Given the description of an element on the screen output the (x, y) to click on. 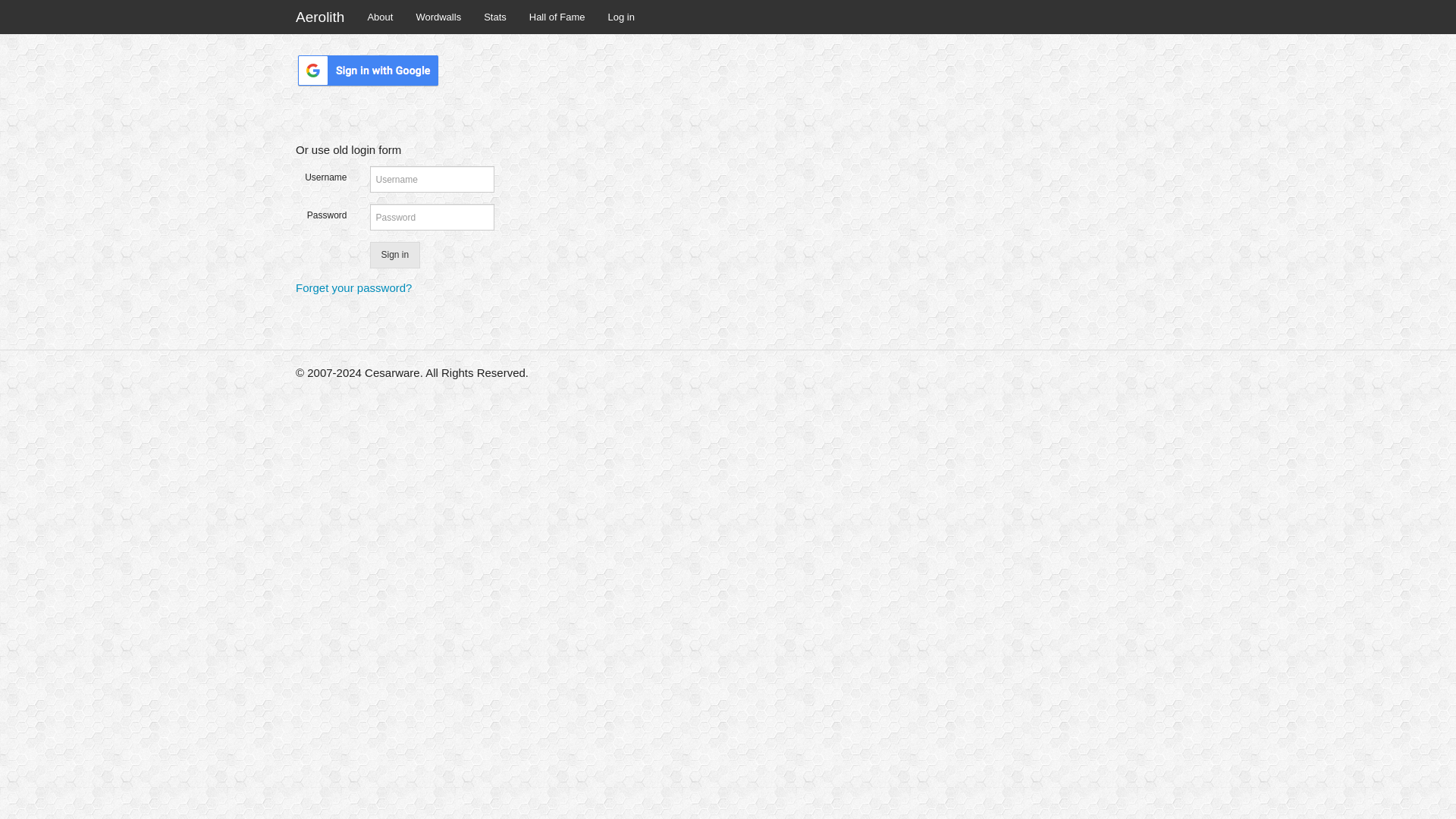
Stats (494, 17)
Log in (620, 17)
Sign in (394, 254)
About (379, 17)
Aerolith (319, 17)
Wordwalls (437, 17)
Forget your password? (353, 287)
Hall of Fame (557, 17)
